Given the description of an element on the screen output the (x, y) to click on. 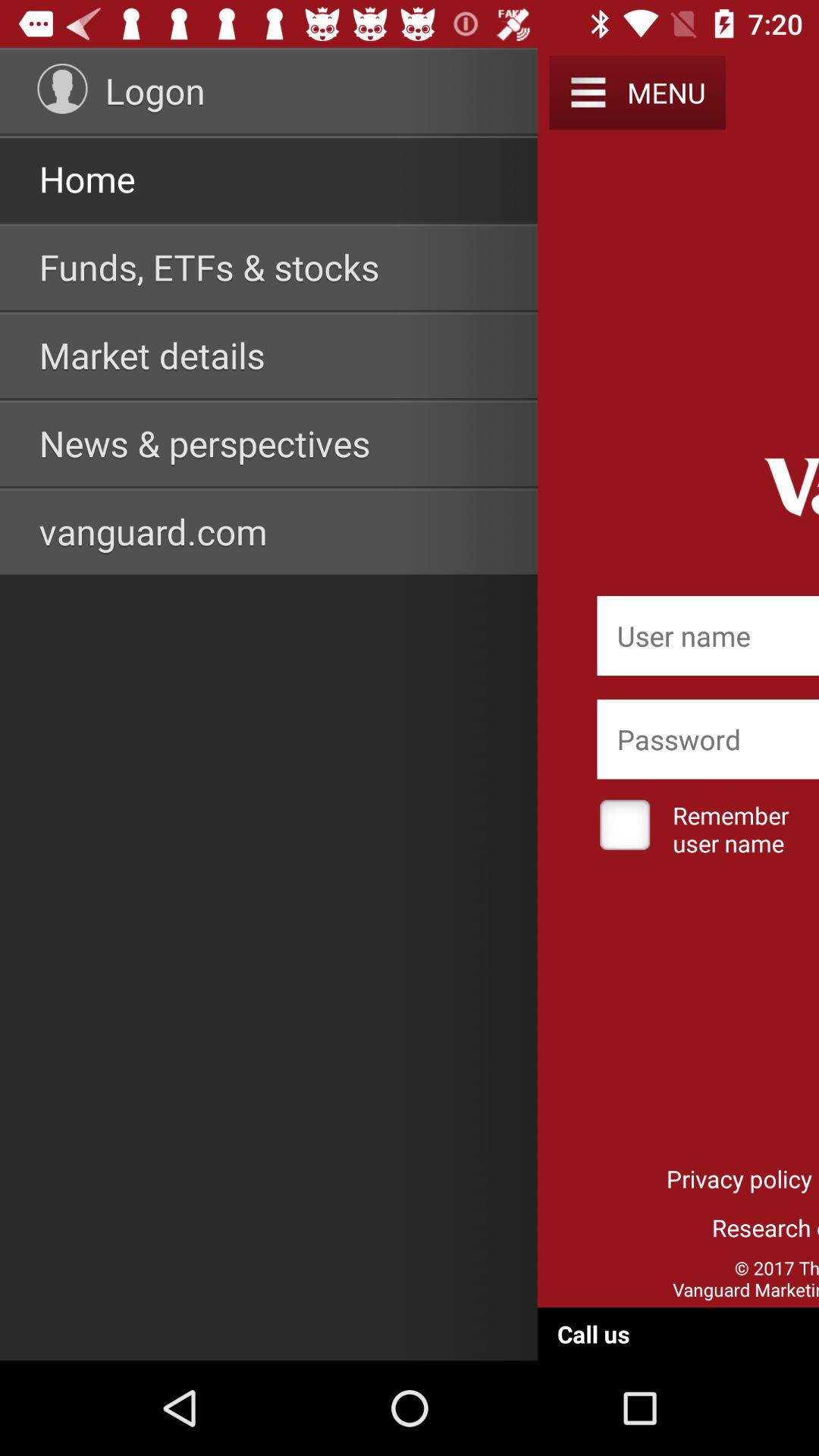
click market details item (152, 355)
